Given the description of an element on the screen output the (x, y) to click on. 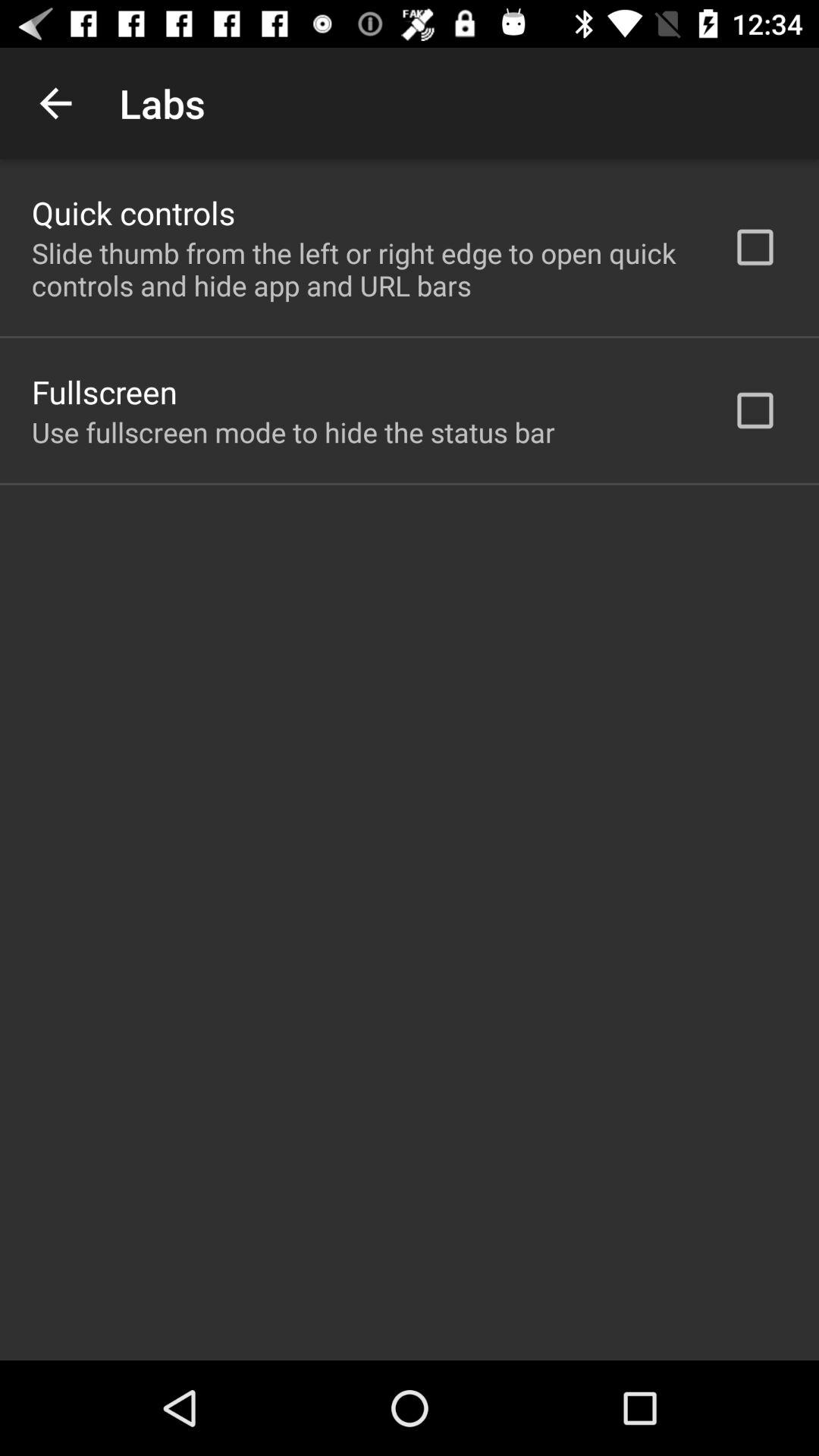
press the app above quick controls item (55, 103)
